Given the description of an element on the screen output the (x, y) to click on. 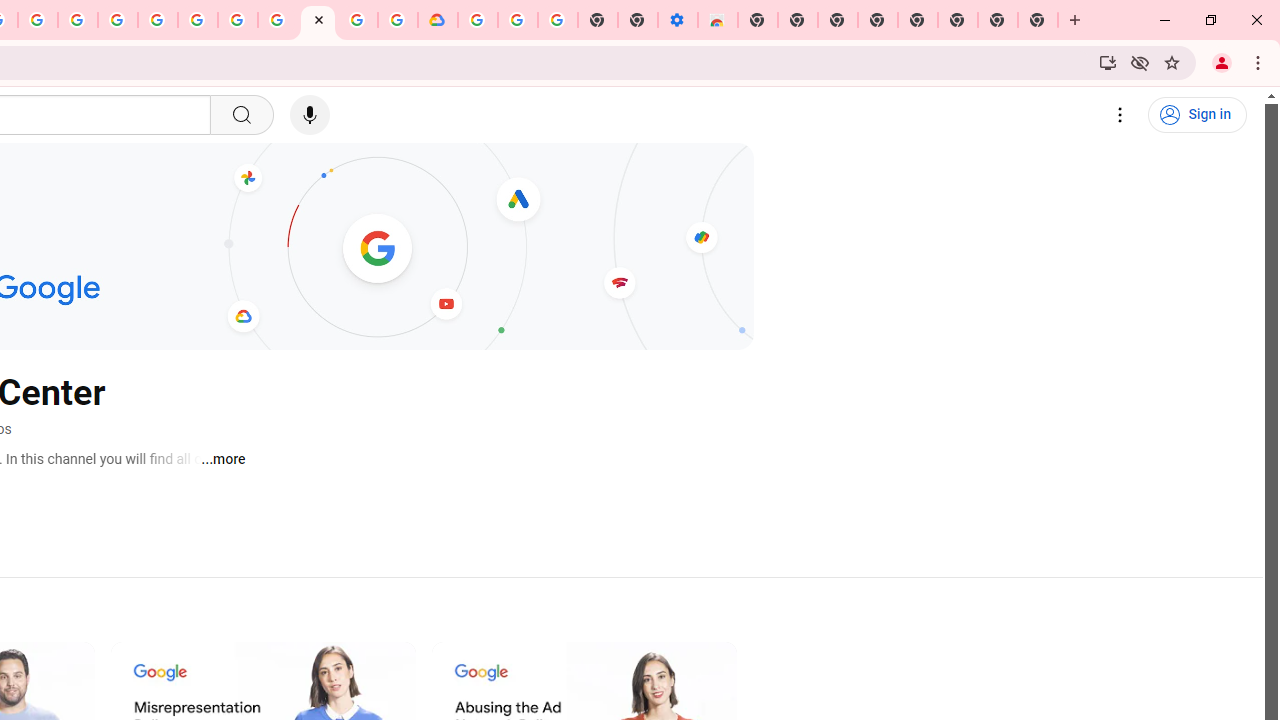
Ad Settings (118, 20)
Sign in - Google Accounts (477, 20)
Create your Google Account (357, 20)
Android TV Policies and Guidelines - Transparency Center (278, 20)
Create your Google Account (37, 20)
Google Transparency Center - YouTube (317, 20)
Search with your voice (309, 115)
Google Account Help (237, 20)
Settings - Accessibility (677, 20)
Settings (1119, 115)
Search (240, 115)
